Given the description of an element on the screen output the (x, y) to click on. 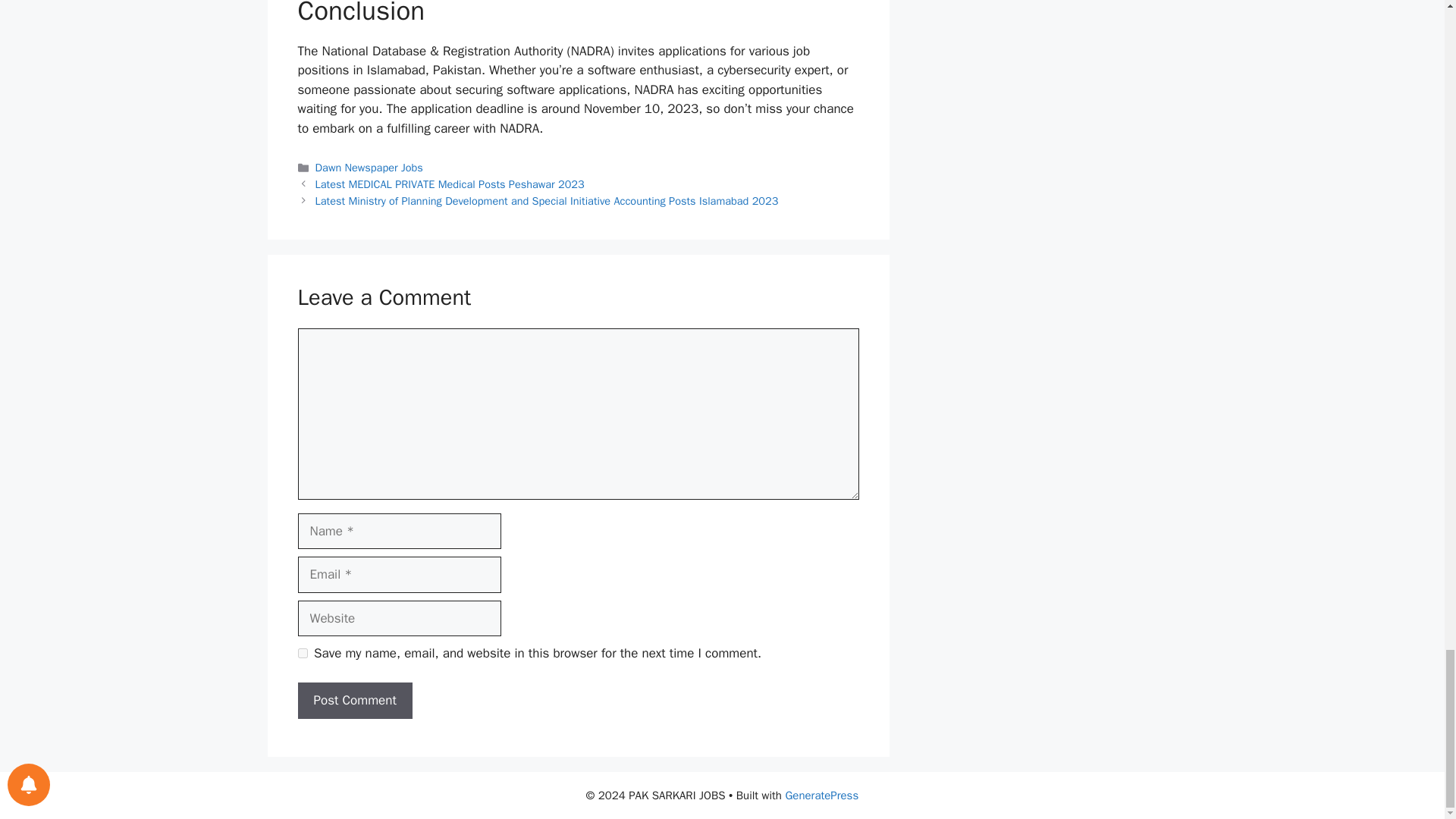
GeneratePress (821, 795)
Latest MEDICAL PRIVATE Medical Posts Peshawar 2023 (450, 183)
Dawn Newspaper Jobs (369, 167)
yes (302, 653)
Post Comment (354, 700)
Post Comment (354, 700)
